Given the description of an element on the screen output the (x, y) to click on. 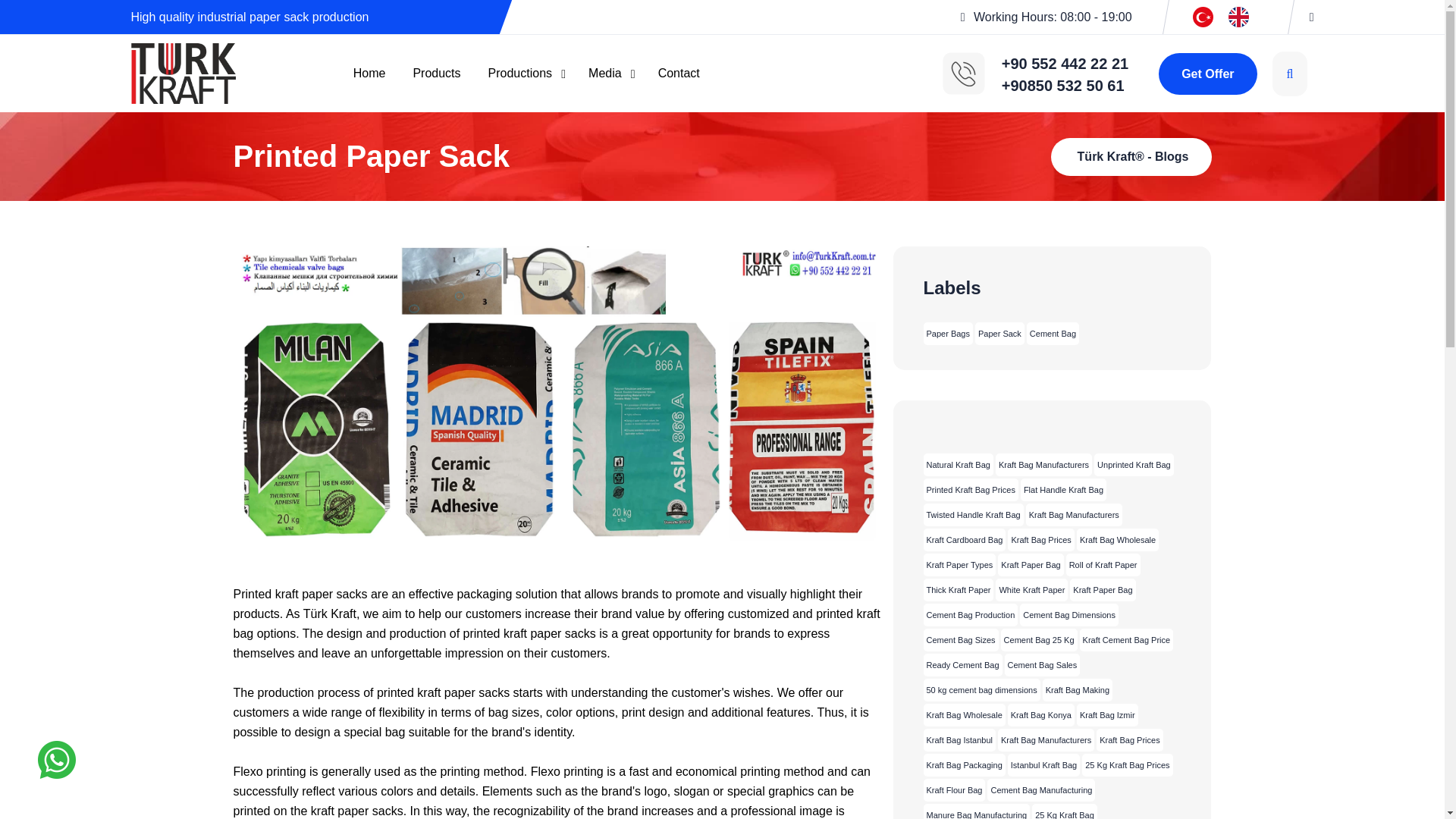
Paper Bags (947, 333)
Kraft Paper Bag (1102, 589)
Flat Handle Kraft Bag (1063, 489)
Cement Bag (1052, 333)
Unprinted Kraft Bag (1133, 464)
Printed Kraft Bag Prices (970, 489)
Kraft Bag Wholesale (1117, 539)
Kraft Bag Prices (1040, 539)
Natural Kraft Bag (957, 464)
Kraft Bag Manufacturers (1074, 514)
Kraft Paper Types (959, 564)
Kraft Cardboard Bag (964, 539)
Thick Kraft Paper (958, 589)
Twisted Handle Kraft Bag (973, 514)
Get Offer (1207, 74)
